Given the description of an element on the screen output the (x, y) to click on. 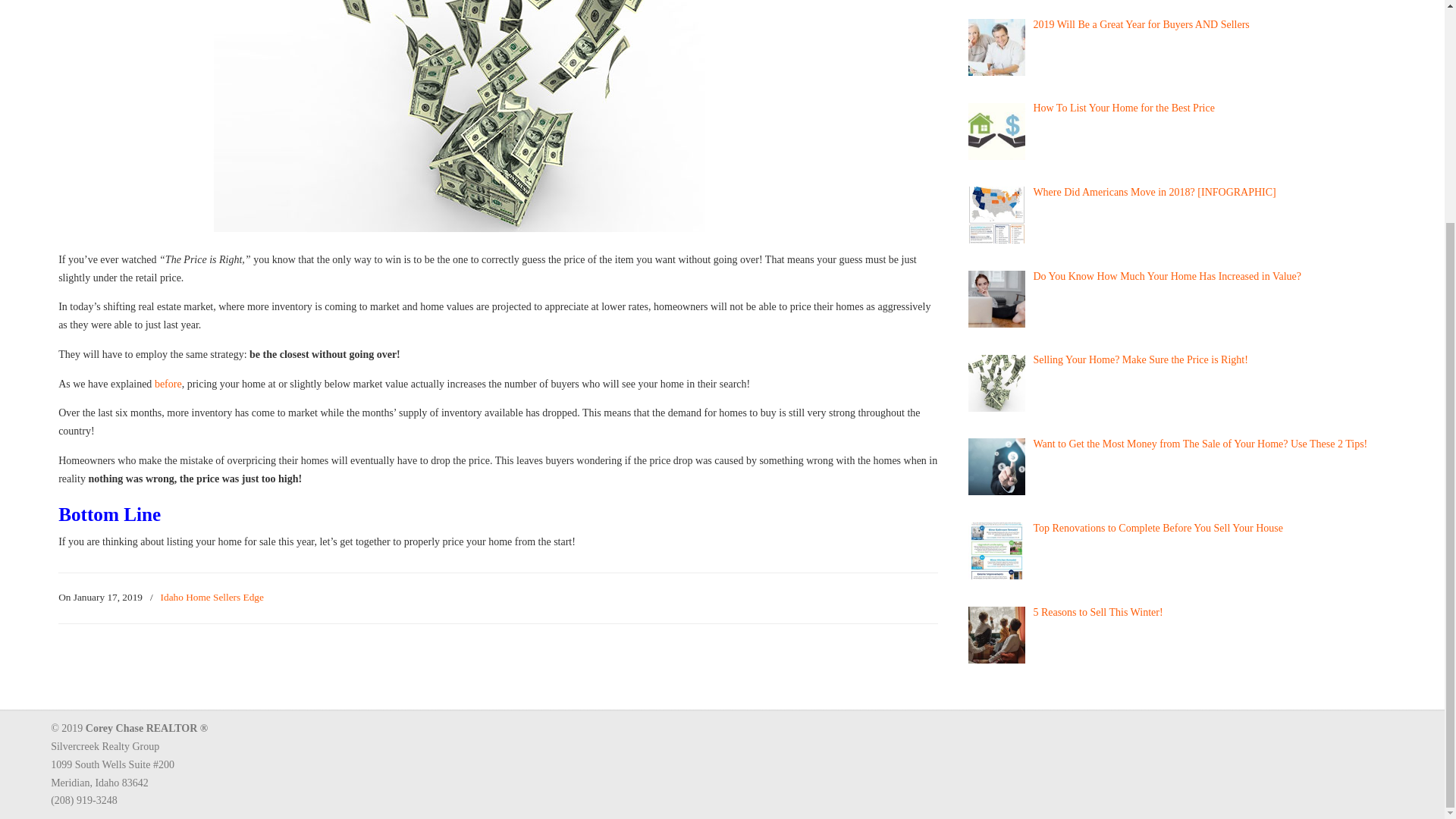
How To List Your Home for the Best Price (1123, 107)
Do You Know How Much Your Home Has Increased in Value? (1166, 276)
before (168, 383)
Idaho Home Sellers Edge (211, 597)
5 Reasons to Sell This Winter! (1096, 611)
Top Renovations to Complete Before You Sell Your House (1157, 527)
Selling Your Home? Make Sure the Price is Right! (1139, 359)
2019 Will Be a Great Year for Buyers AND Sellers (1140, 24)
